Given the description of an element on the screen output the (x, y) to click on. 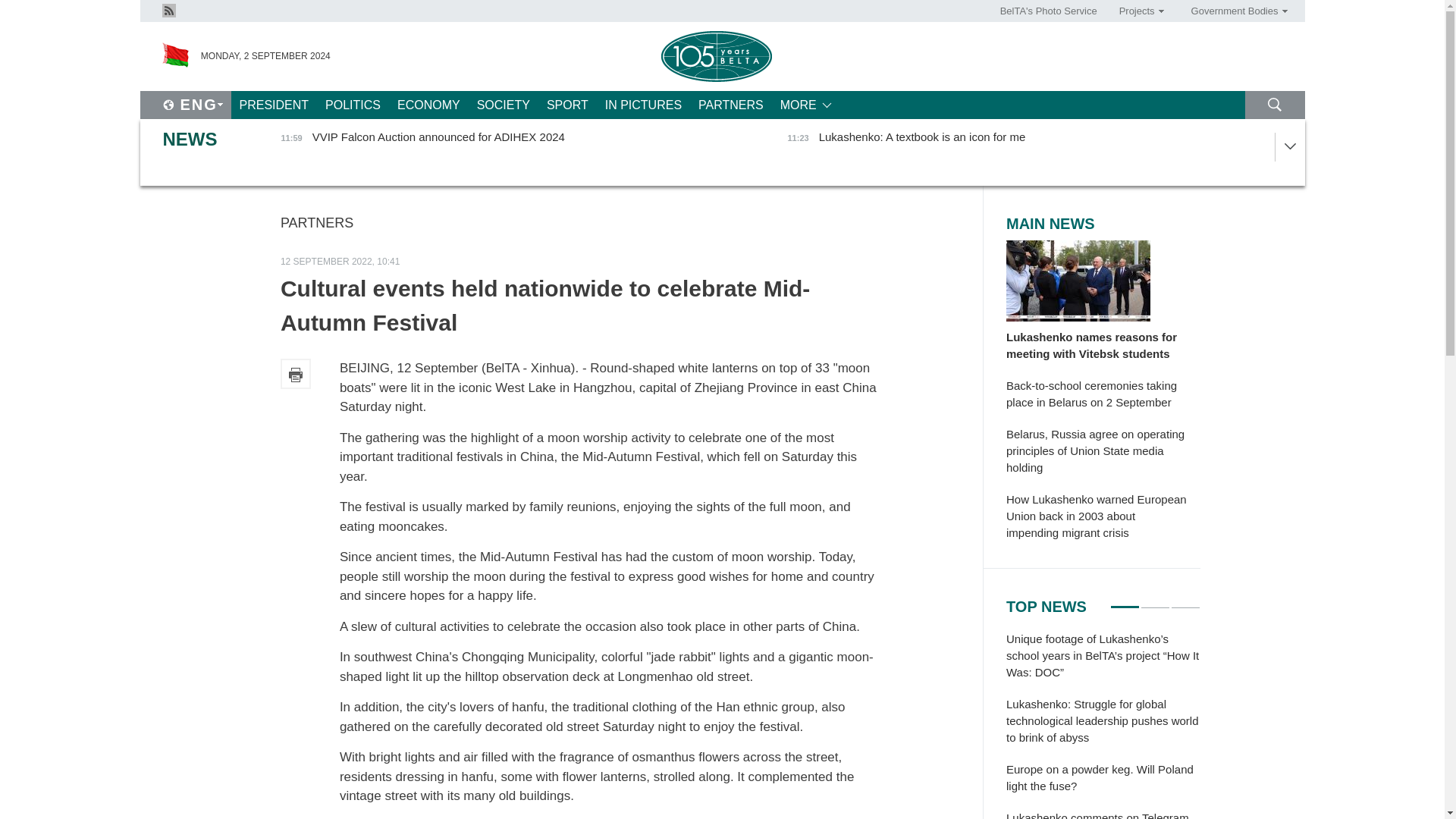
Government Bodies (1233, 11)
Projects (1136, 11)
Government Bodies (1233, 11)
Rss (167, 9)
Projects (1136, 11)
BelTA's Photo Service (1048, 11)
BelTA's Photo Service (1048, 11)
Rss (168, 10)
